Given the description of an element on the screen output the (x, y) to click on. 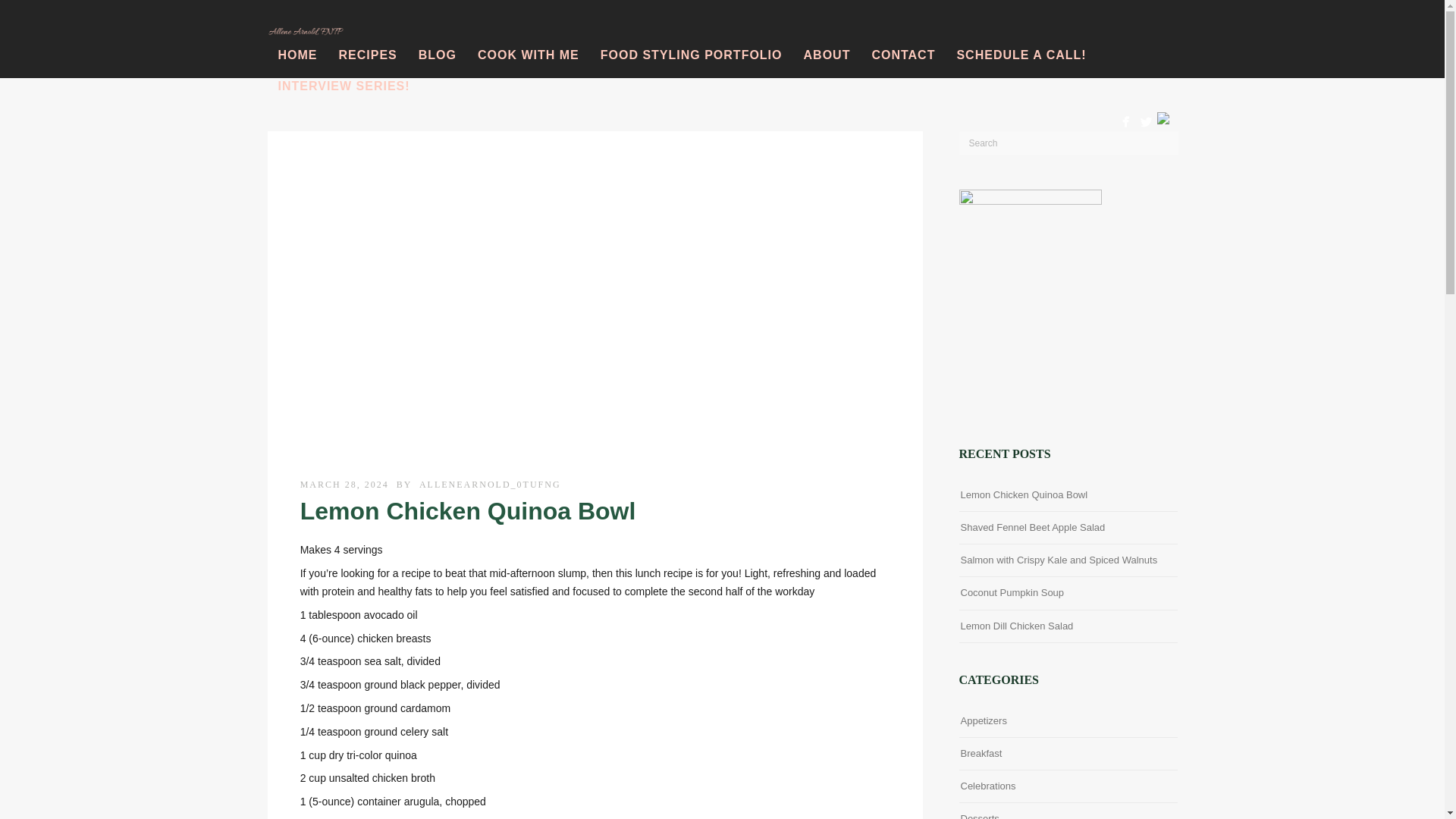
Lemon Chicken Quinoa Bowl (1023, 494)
COOK WITH ME (528, 54)
INTERVIEW SERIES! (343, 85)
Breakfast (980, 752)
BLOG (437, 54)
Desserts (978, 814)
Salmon with Crispy Kale and Spiced Walnuts (1058, 559)
CONTACT (902, 54)
RECIPES (367, 54)
Coconut Pumpkin Soup (1011, 592)
Appetizers (982, 720)
SCHEDULE A CALL! (1020, 54)
Shaved Fennel Beet Apple Salad (1032, 527)
Lemon Dill Chicken Salad (1016, 625)
HOME (296, 54)
